Given the description of an element on the screen output the (x, y) to click on. 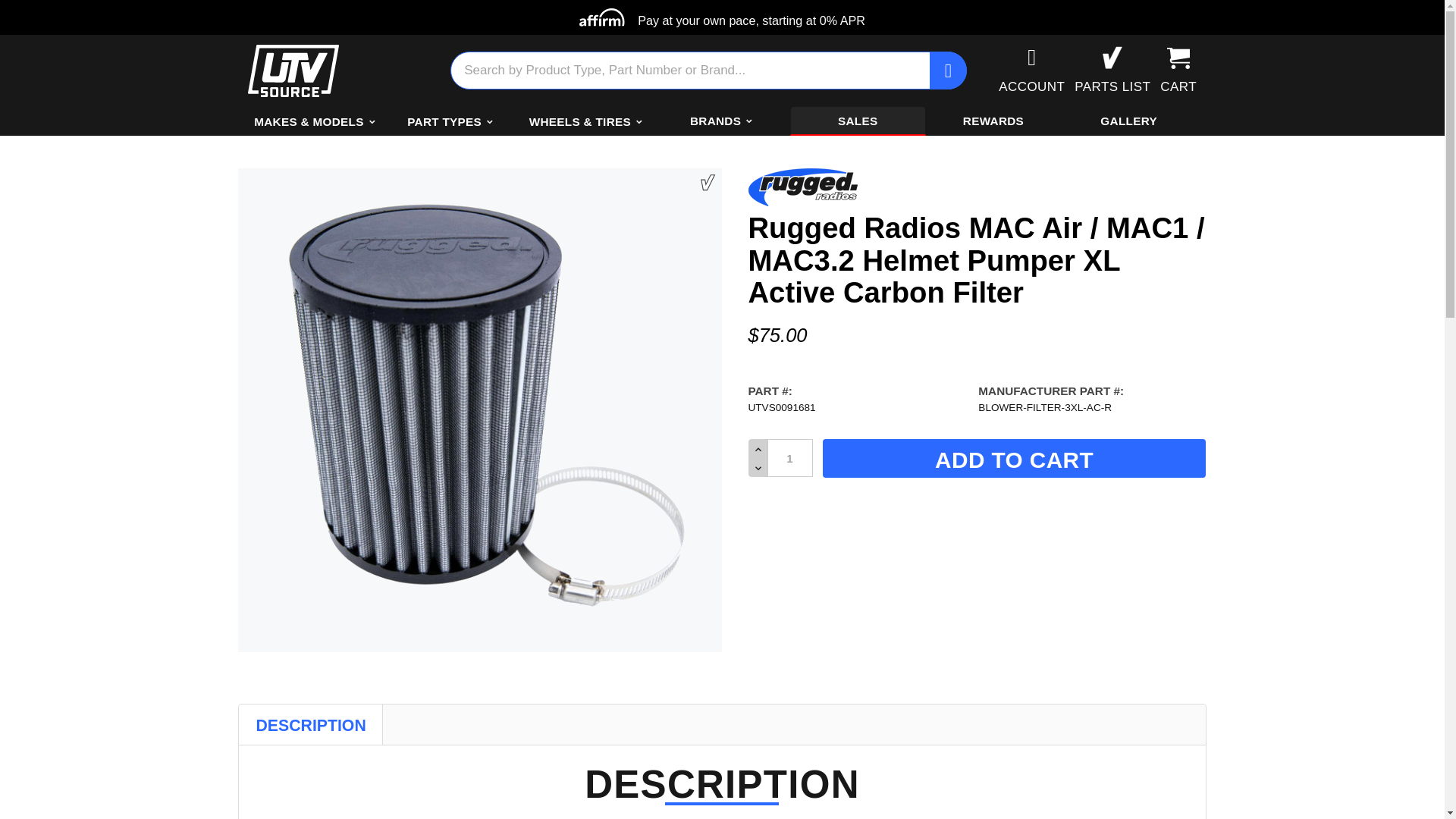
UTV Source (293, 70)
ACCOUNT (1036, 69)
1 (789, 457)
Parts List (1117, 69)
PARTS LIST (1117, 69)
Login (1036, 69)
SEARCH (926, 70)
